Given the description of an element on the screen output the (x, y) to click on. 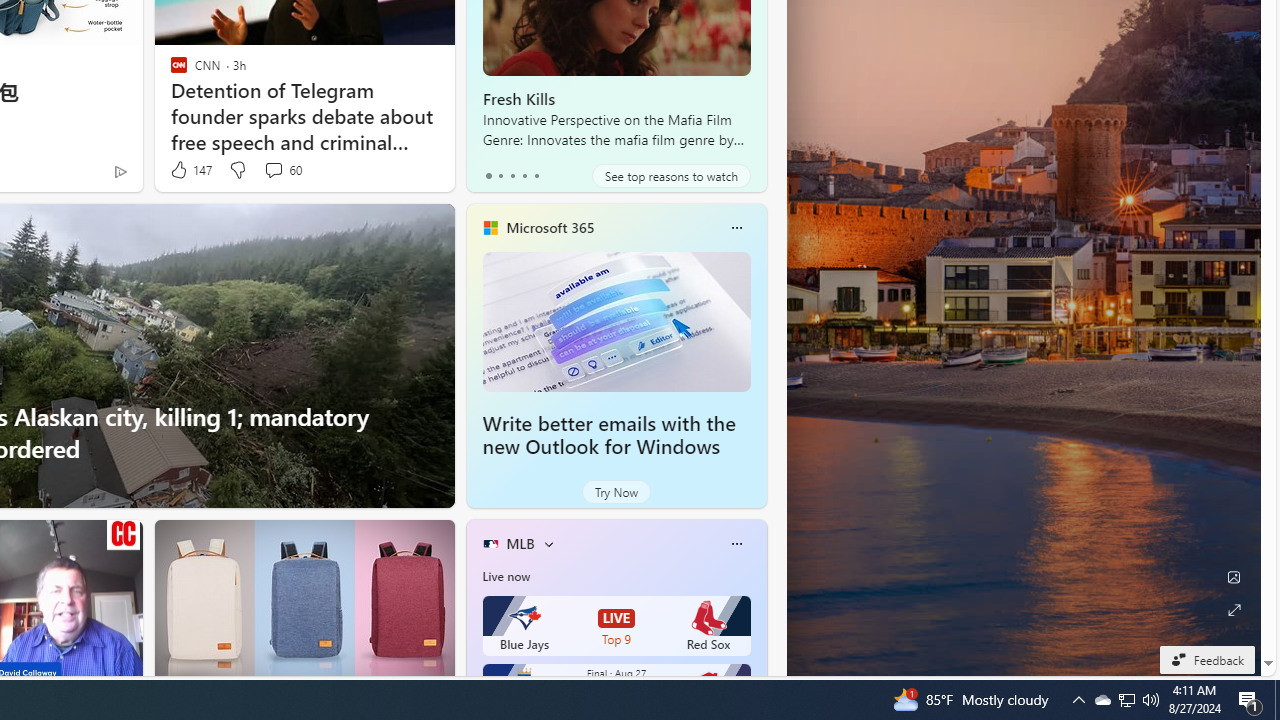
tab-2 (511, 175)
More interests (548, 543)
See top reasons to watch (671, 175)
MLB (520, 543)
tab-3 (524, 175)
tab-0 (488, 175)
147 Like (190, 170)
View comments 60 Comment (273, 169)
View comments 60 Comment (281, 170)
Try Now (616, 491)
tab-4 (535, 175)
